Given the description of an element on the screen output the (x, y) to click on. 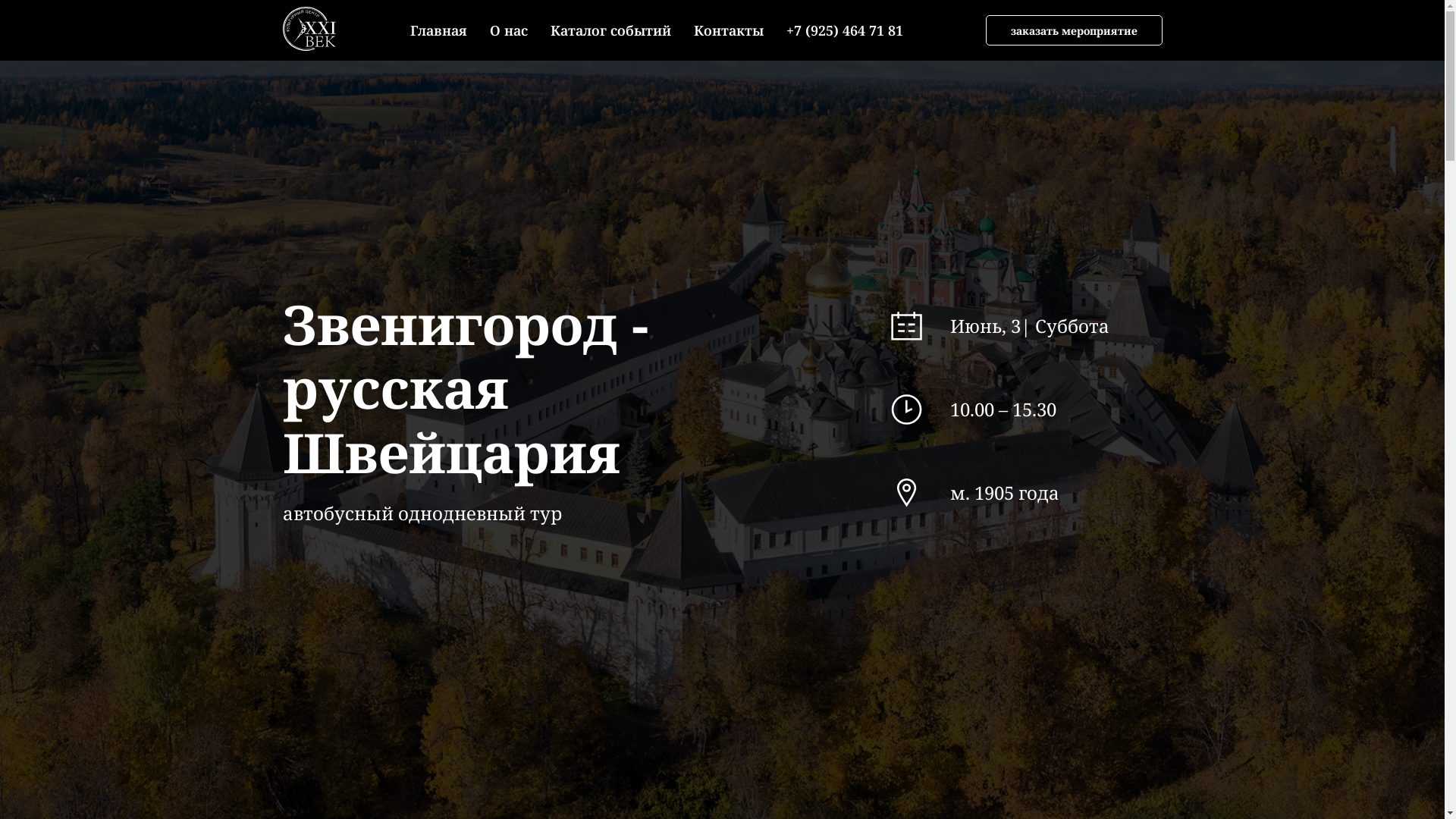
+7 (925) 464 71 81 Element type: text (844, 30)
